Given the description of an element on the screen output the (x, y) to click on. 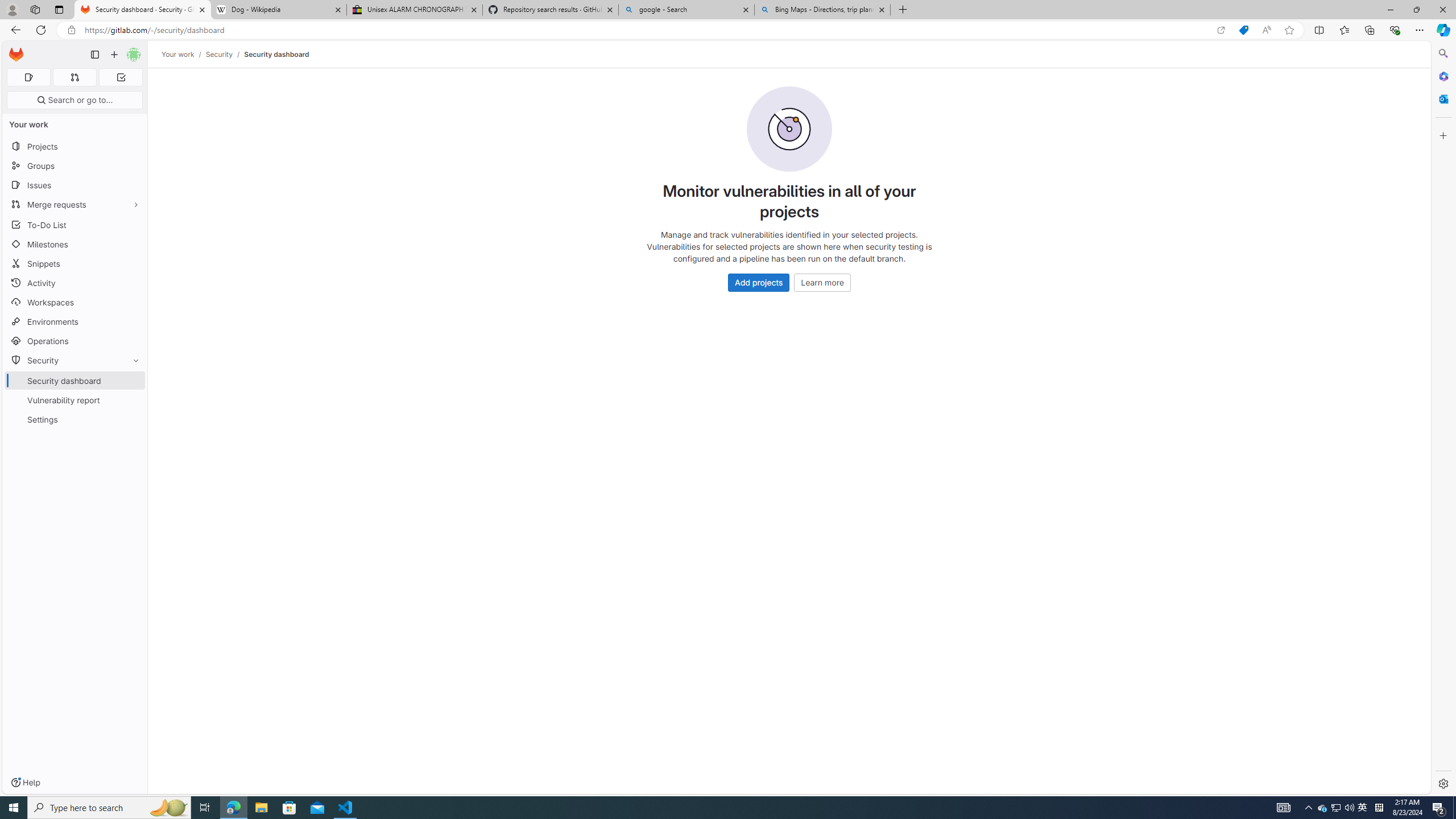
Environments (74, 321)
Dog - Wikipedia (277, 9)
Vulnerability report (74, 399)
Milestones (74, 244)
Operations (74, 340)
Create new... (113, 54)
Projects (74, 145)
